Given the description of an element on the screen output the (x, y) to click on. 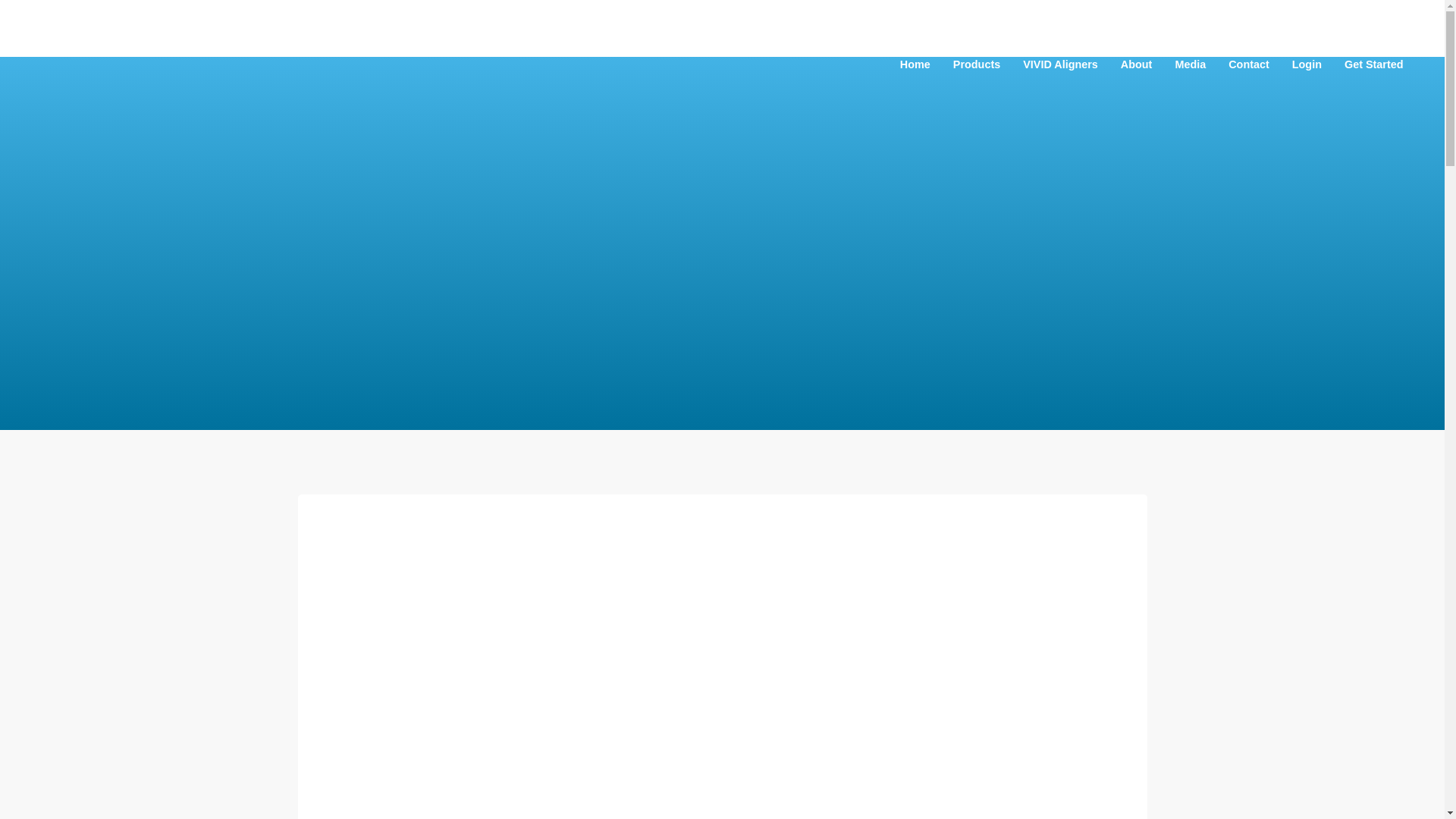
Products (976, 64)
Home (914, 64)
